Given the description of an element on the screen output the (x, y) to click on. 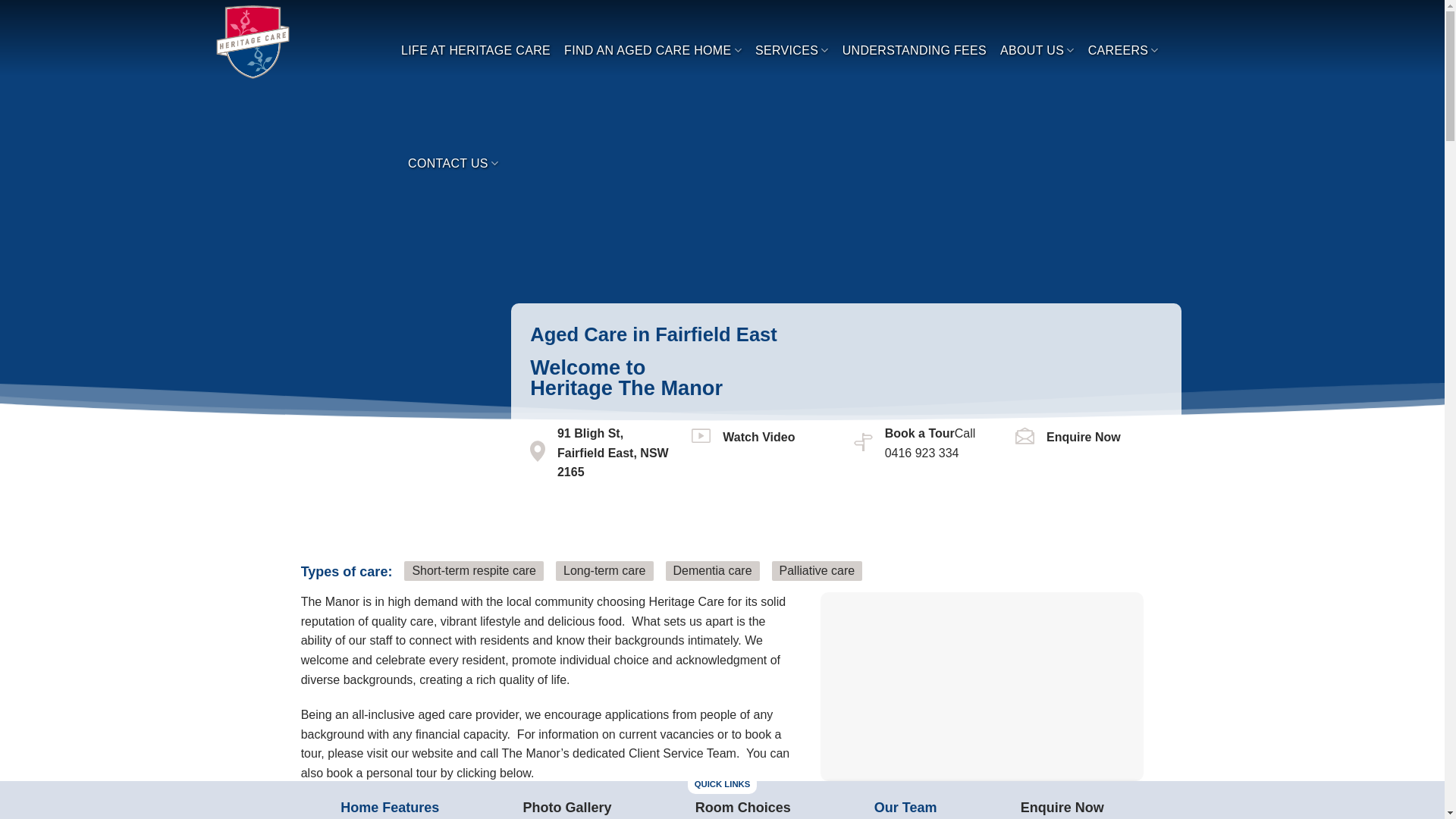
Watch Video Element type: text (758, 436)
Our Team Element type: text (905, 807)
Skip to content Element type: text (0, 0)
CONTACT US Element type: text (452, 162)
91 Bligh St,
Fairfield East, NSW 2165 Element type: text (603, 452)
Photo Gallery Element type: text (566, 807)
Heritage Care Element type: hover (295, 41)
Home Features Element type: text (389, 807)
Room Choices Element type: text (742, 807)
Book a TourCall 0416 923 334 Element type: text (929, 442)
Dementia care Element type: text (712, 570)
Enquire Now Element type: text (1062, 807)
Short-term respite care Element type: text (473, 570)
